Given the description of an element on the screen output the (x, y) to click on. 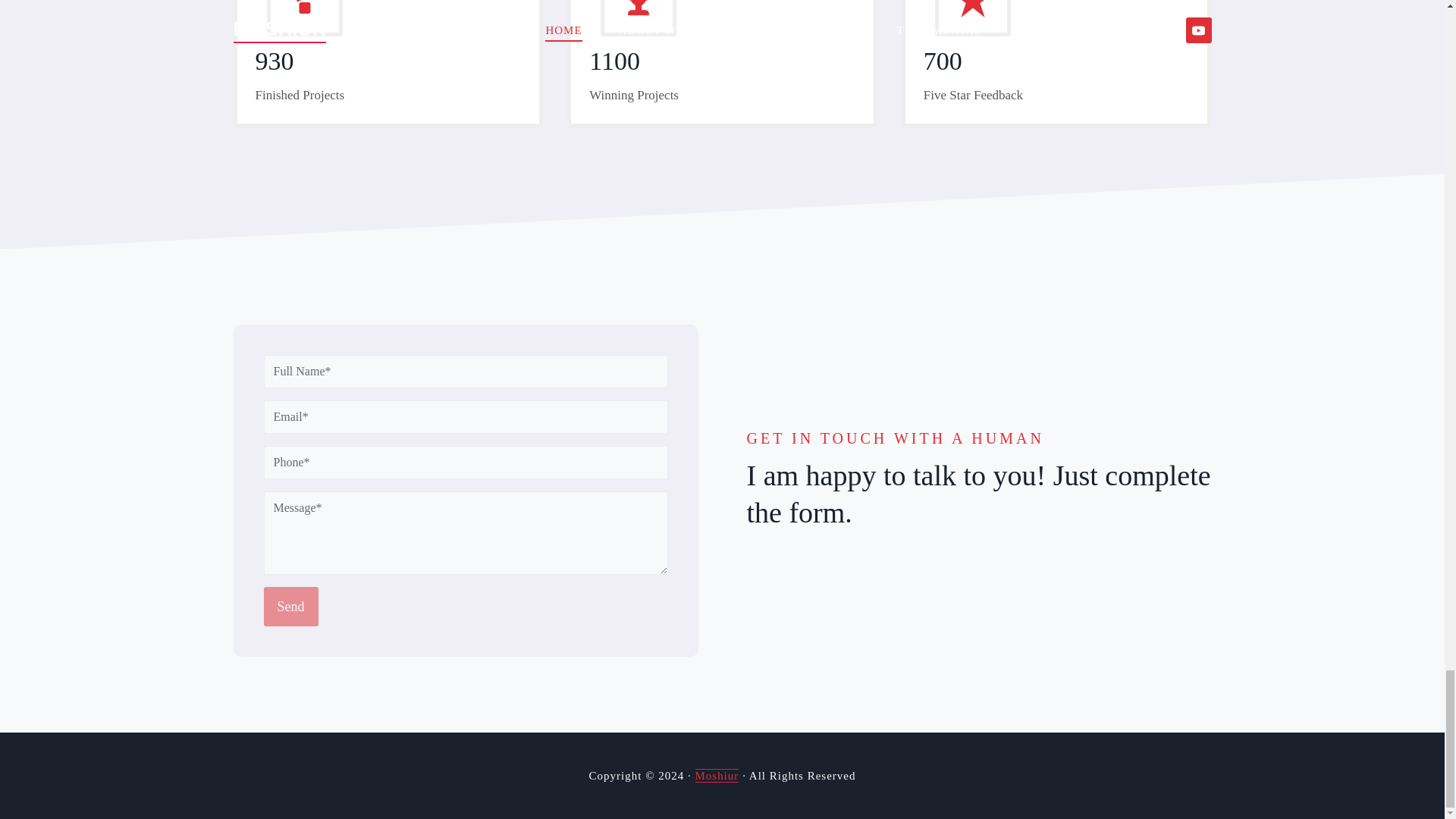
Send (290, 606)
Moshiur (717, 775)
